Given the description of an element on the screen output the (x, y) to click on. 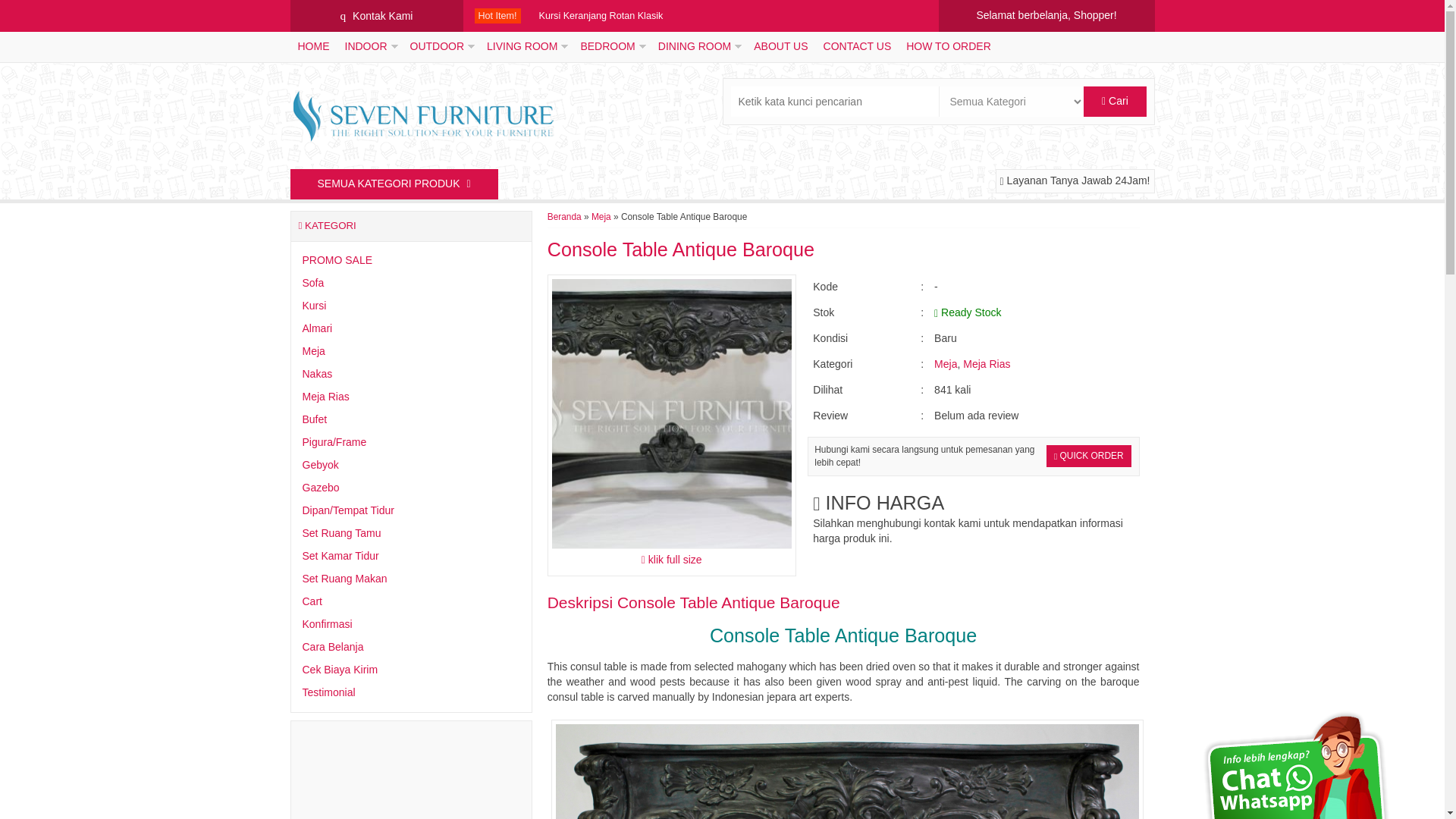
LIVING ROOM (525, 46)
OUTDOOR (440, 46)
HOME (312, 46)
DINING ROOM (697, 46)
Console Table Antique Baroque (728, 601)
Kursi Keranjang Rotan Klasik (600, 15)
Kursi Keranjang Rotan Klasik (600, 15)
INDOOR (368, 46)
BEDROOM (610, 46)
Console Table Antique Baroque (680, 249)
